Given the description of an element on the screen output the (x, y) to click on. 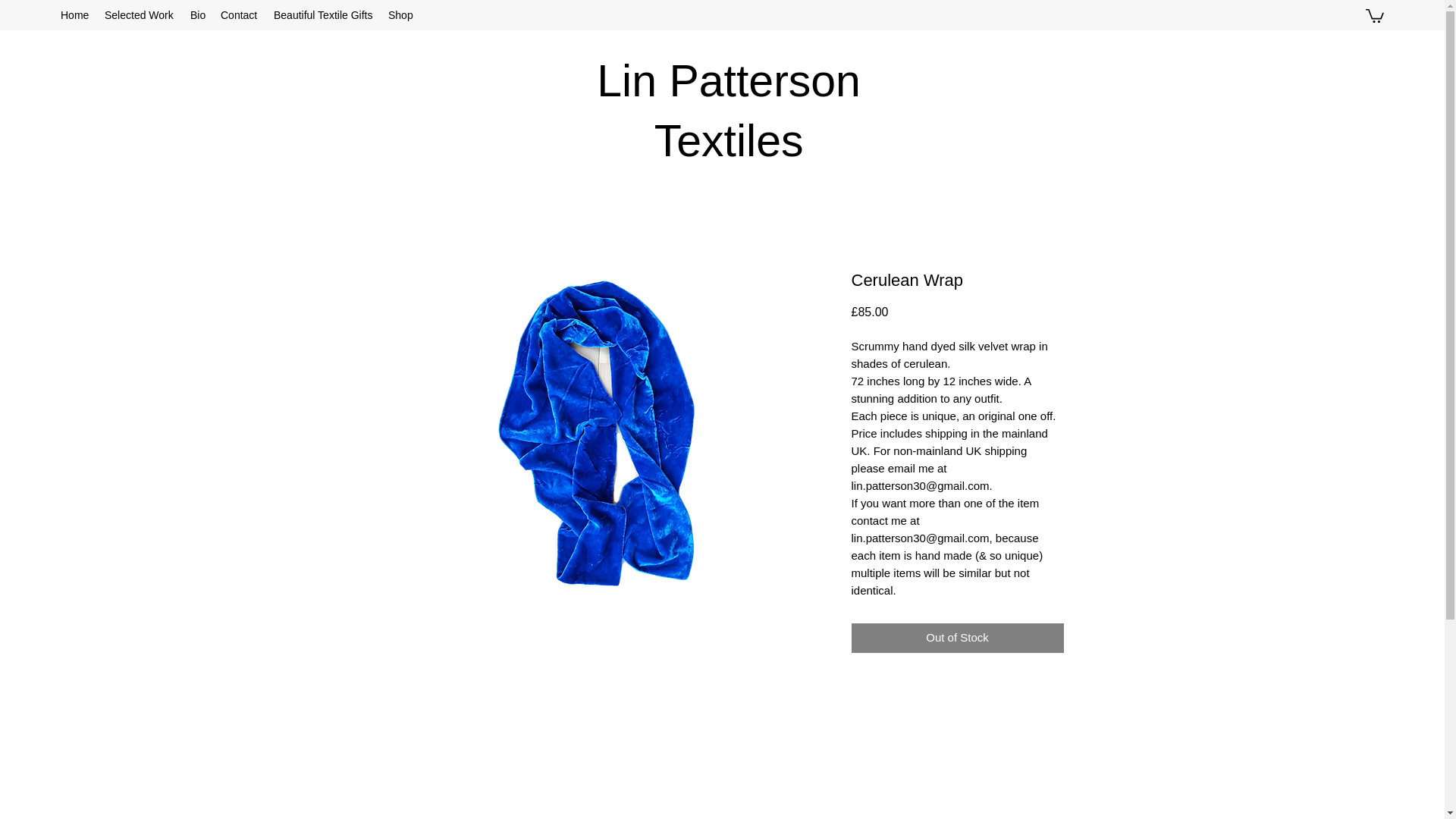
Out of Stock (956, 637)
Shop (401, 15)
Selected Work (140, 15)
Beautiful Textile Gifts (323, 15)
Home (74, 15)
Contact (239, 15)
Lin Patterson Textiles (728, 111)
Bio (197, 15)
